Given the description of an element on the screen output the (x, y) to click on. 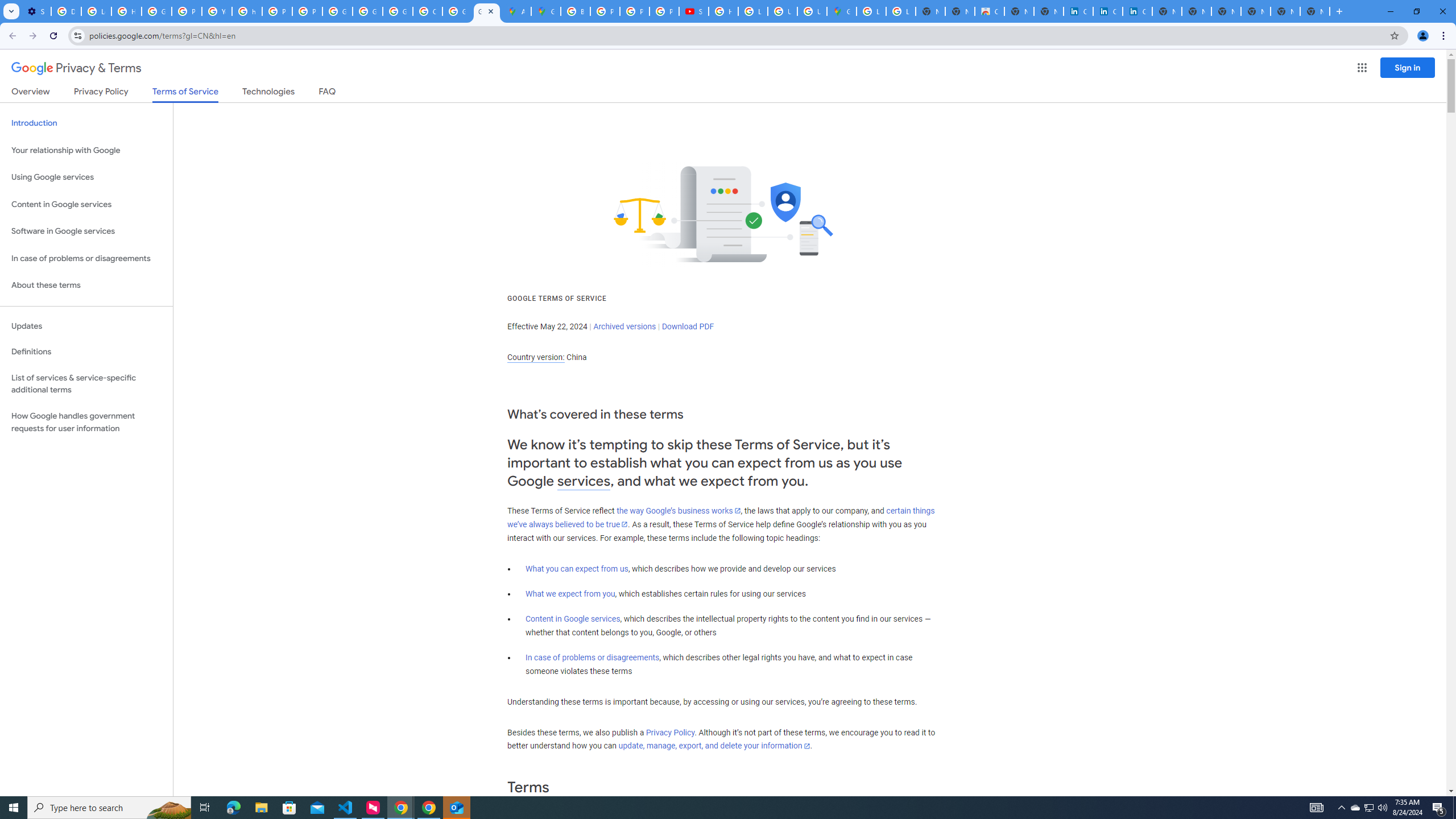
Privacy Help Center - Policies Help (185, 11)
Copyright Policy (1137, 11)
Country version: (535, 357)
Introduction (86, 122)
Software in Google services (86, 230)
How Chrome protects your passwords - Google Chrome Help (723, 11)
